Given the description of an element on the screen output the (x, y) to click on. 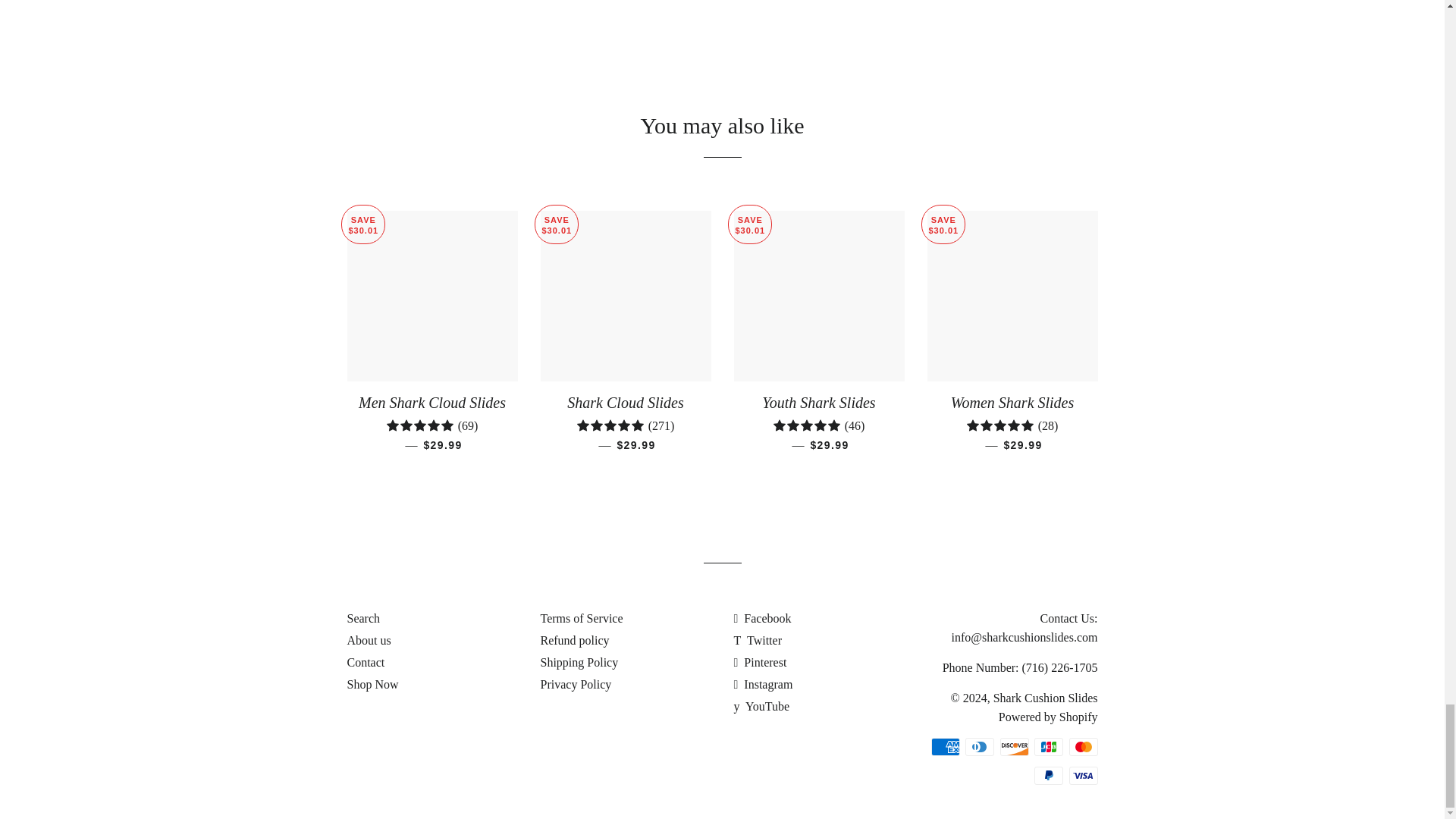
Shark Cushion Slides on Facebook (762, 617)
Product reviews widget (722, 20)
Shark Cushion Slides on Twitter (757, 640)
